Given the description of an element on the screen output the (x, y) to click on. 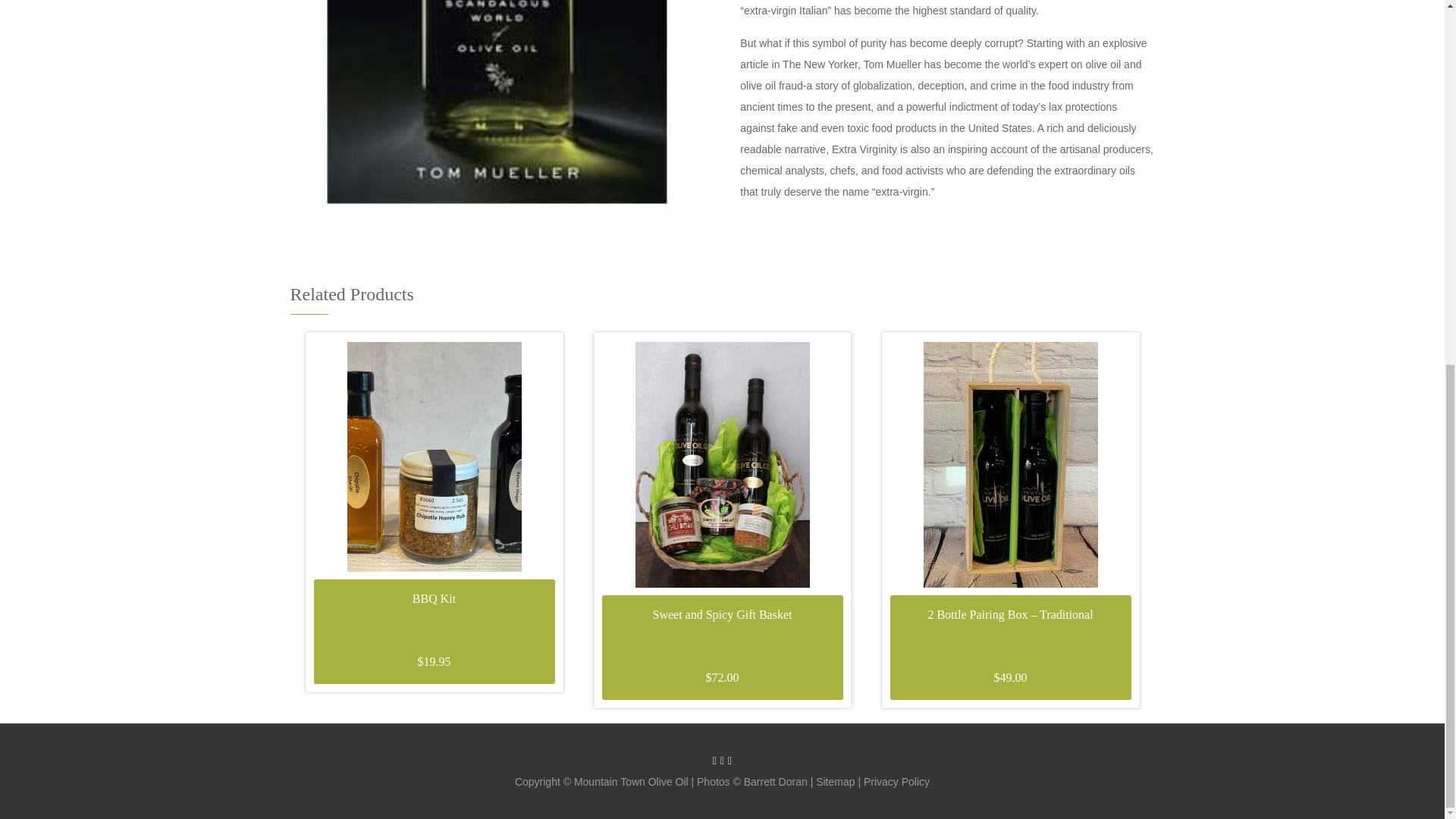
Extra-Virginity (496, 120)
